Given the description of an element on the screen output the (x, y) to click on. 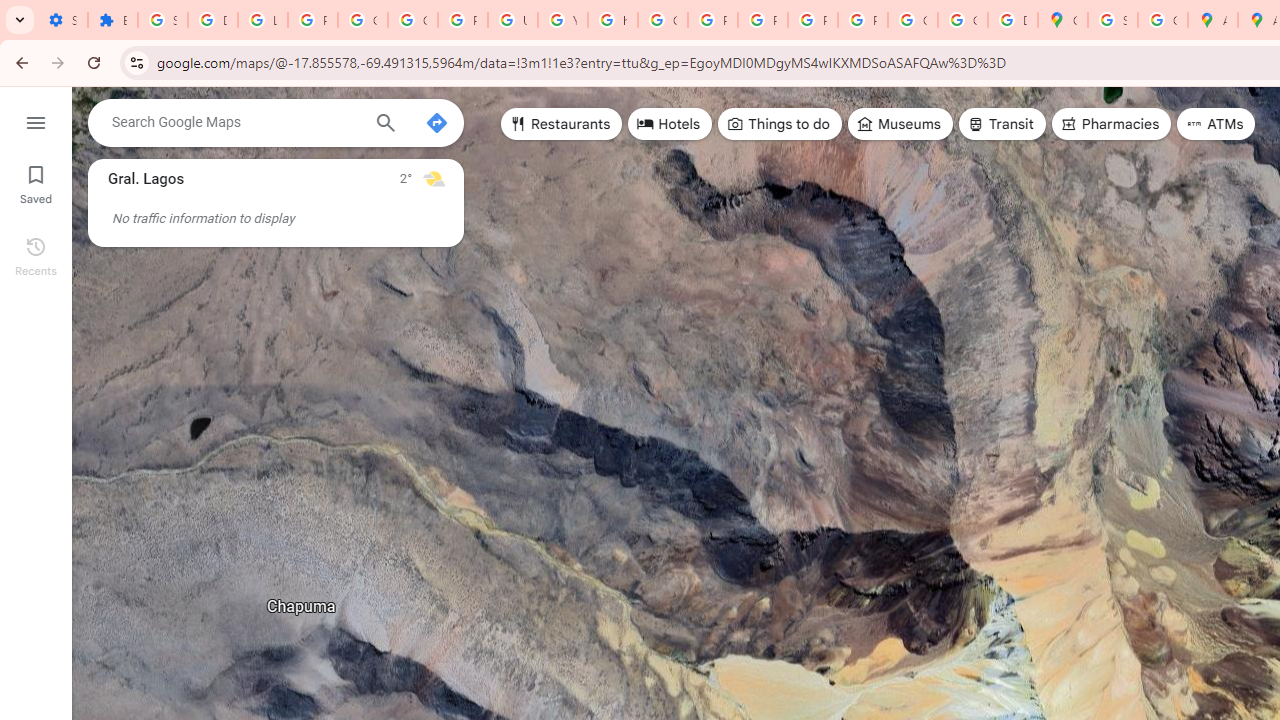
Sign in - Google Accounts (1112, 20)
Search Google Maps (235, 121)
https://scholar.google.com/ (612, 20)
Google Account Help (362, 20)
Hotels (670, 124)
Restaurants (561, 124)
YouTube (562, 20)
Recents (35, 254)
ATMs (1216, 124)
